Given the description of an element on the screen output the (x, y) to click on. 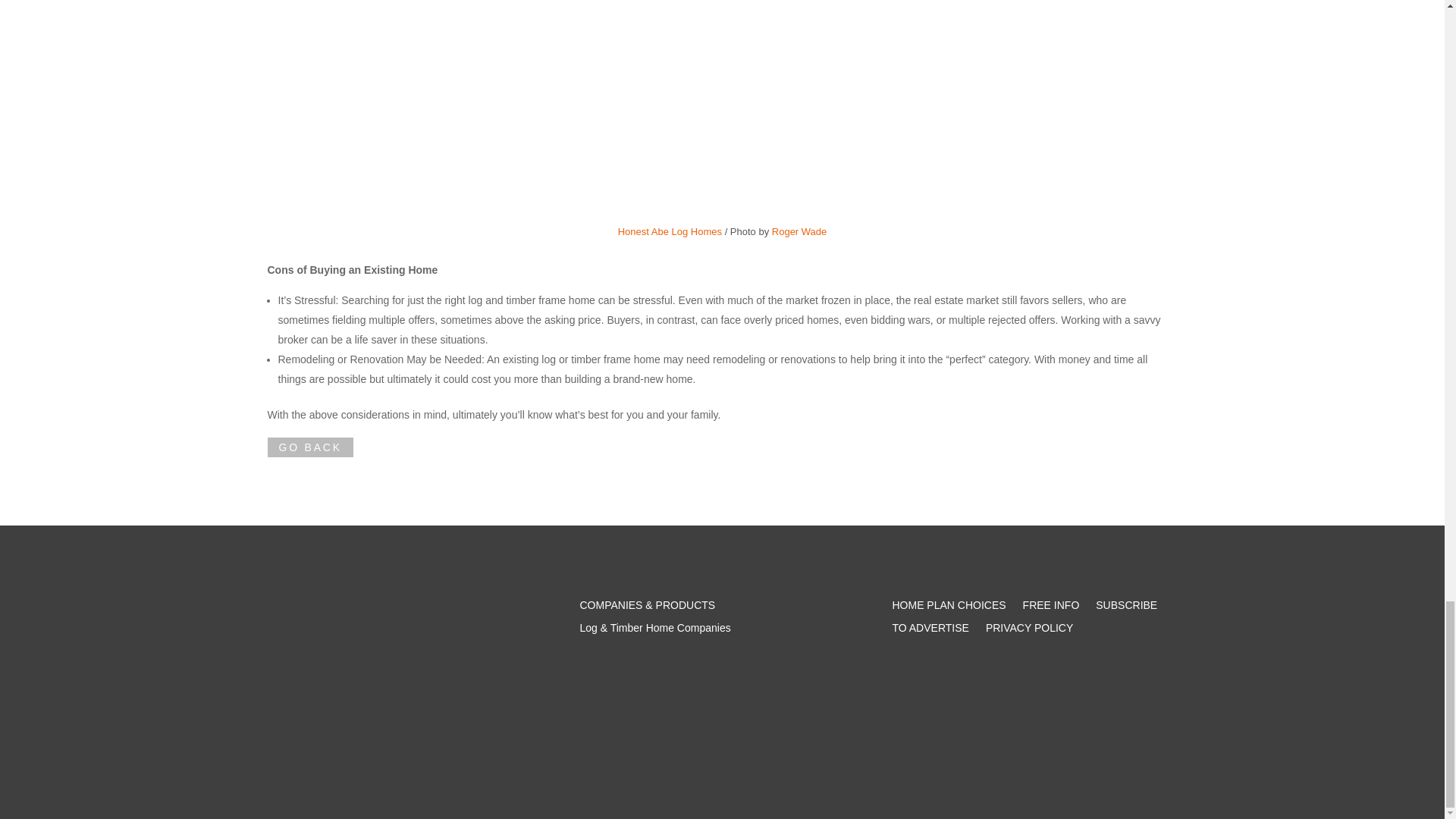
TO ADVERTISE (929, 630)
Honest Abe Log Homes (669, 231)
Go Back (309, 447)
FREE INFO (1051, 607)
SUBSCRIBE (1126, 607)
HOME PLAN CHOICES (948, 607)
Roger Wade (799, 231)
